Given the description of an element on the screen output the (x, y) to click on. 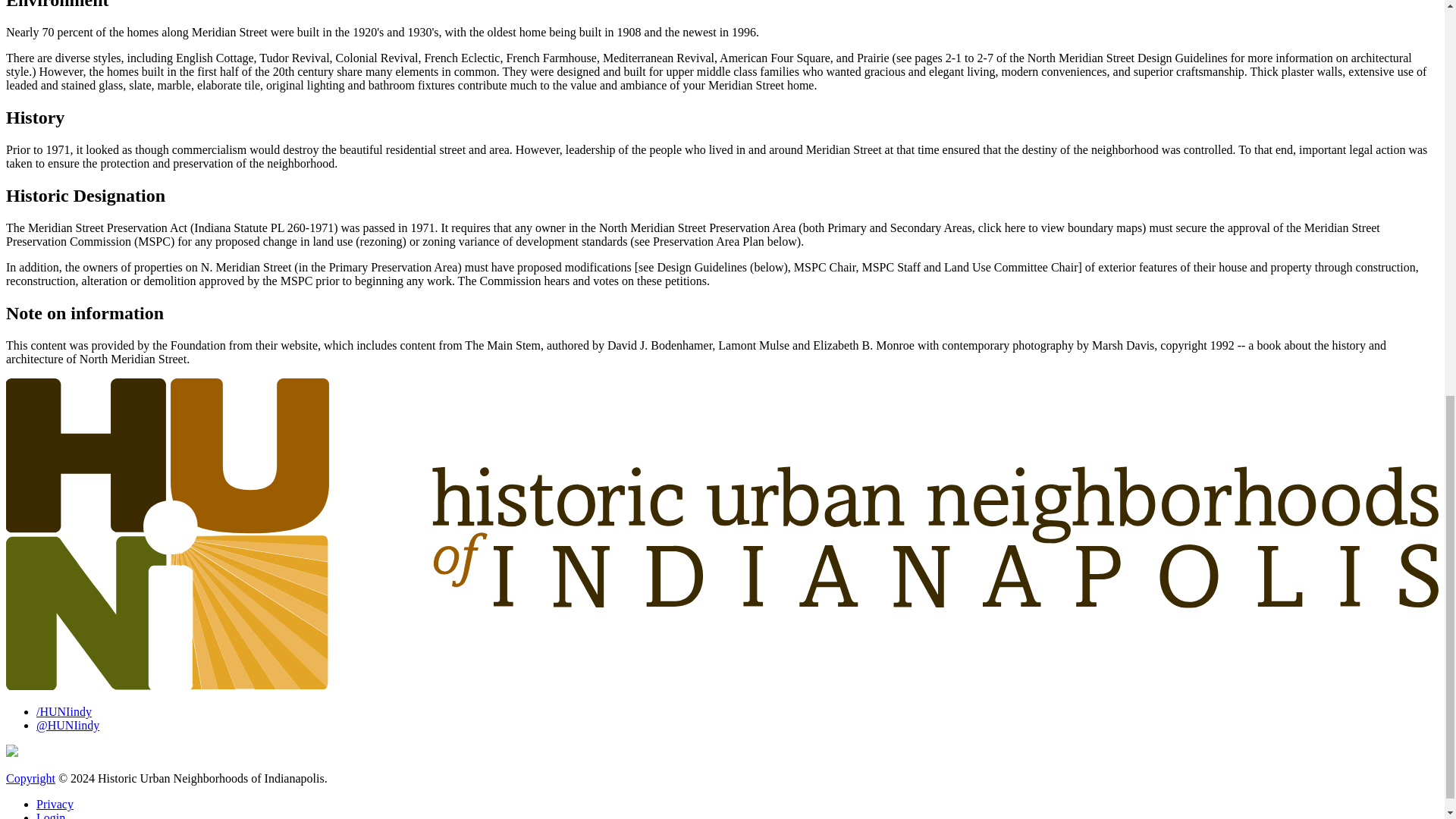
Copyright (30, 778)
Like us on Facebook (63, 711)
Follow us on Twitter (67, 725)
Privacy (55, 803)
